Given the description of an element on the screen output the (x, y) to click on. 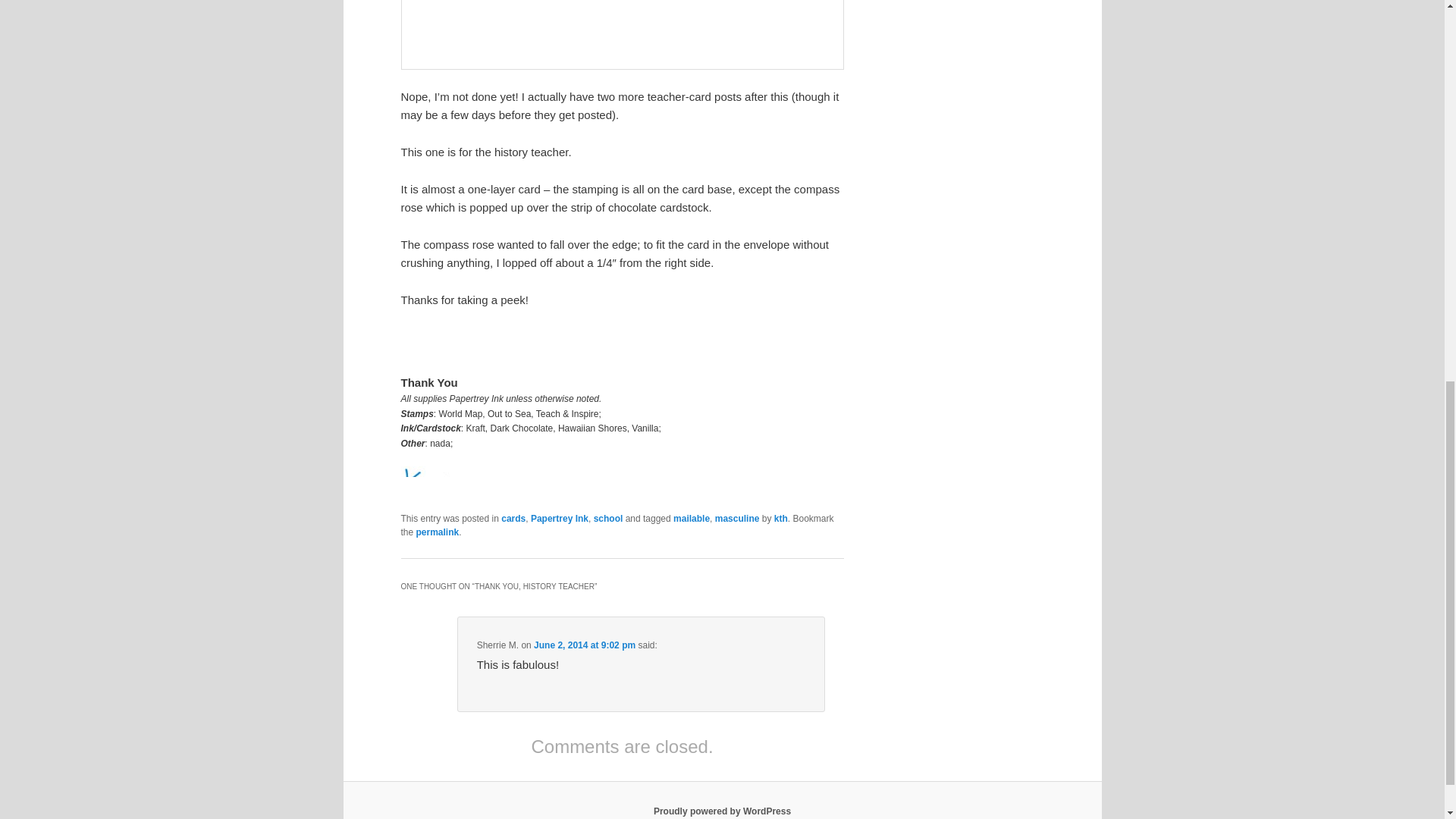
Proudly powered by WordPress (721, 810)
Permalink to Thank You, History Teacher (438, 532)
school (608, 518)
mailable (691, 518)
permalink (438, 532)
June 2, 2014 at 9:02 pm (584, 644)
Semantic Personal Publishing Platform (721, 810)
cards (512, 518)
kth (780, 518)
Papertrey Ink (559, 518)
